Given the description of an element on the screen output the (x, y) to click on. 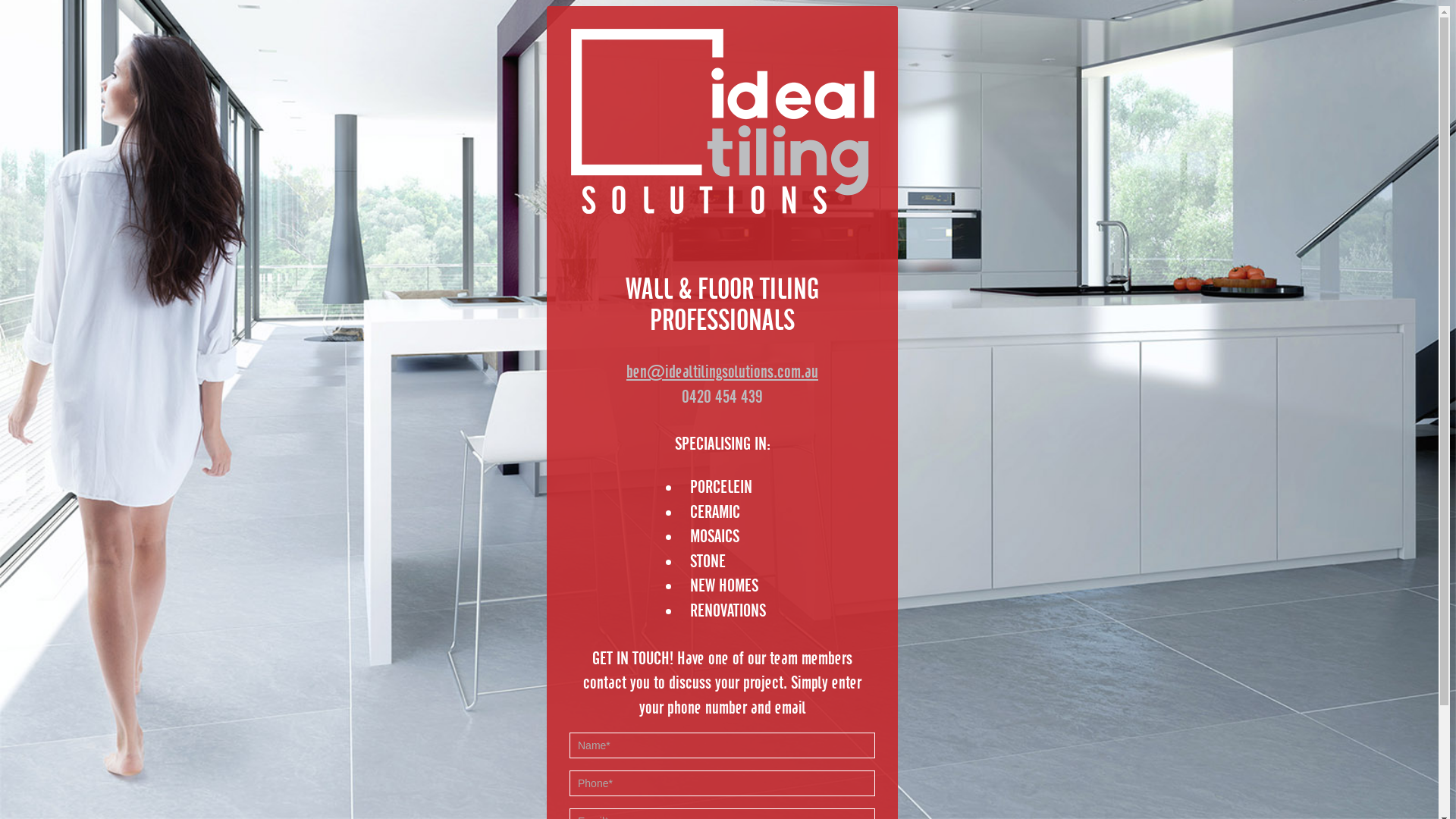
ben@idealtilingsolutions.com.au Element type: text (722, 371)
